Given the description of an element on the screen output the (x, y) to click on. 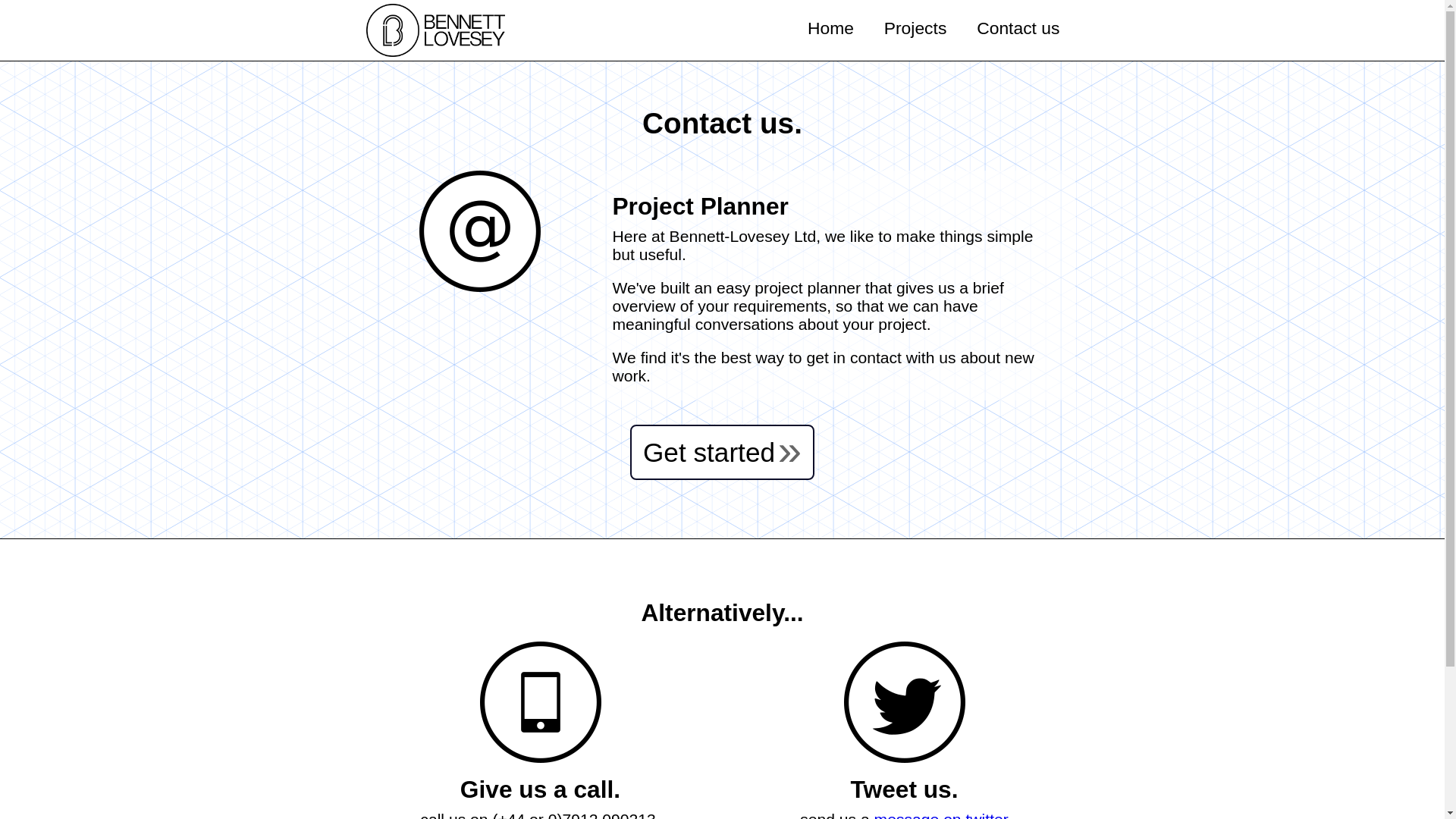
Bennett Lovesey Limited (440, 30)
Get started (721, 452)
Projects (915, 27)
message on twitter (942, 814)
Contact us (1017, 27)
Home (830, 27)
